Given the description of an element on the screen output the (x, y) to click on. 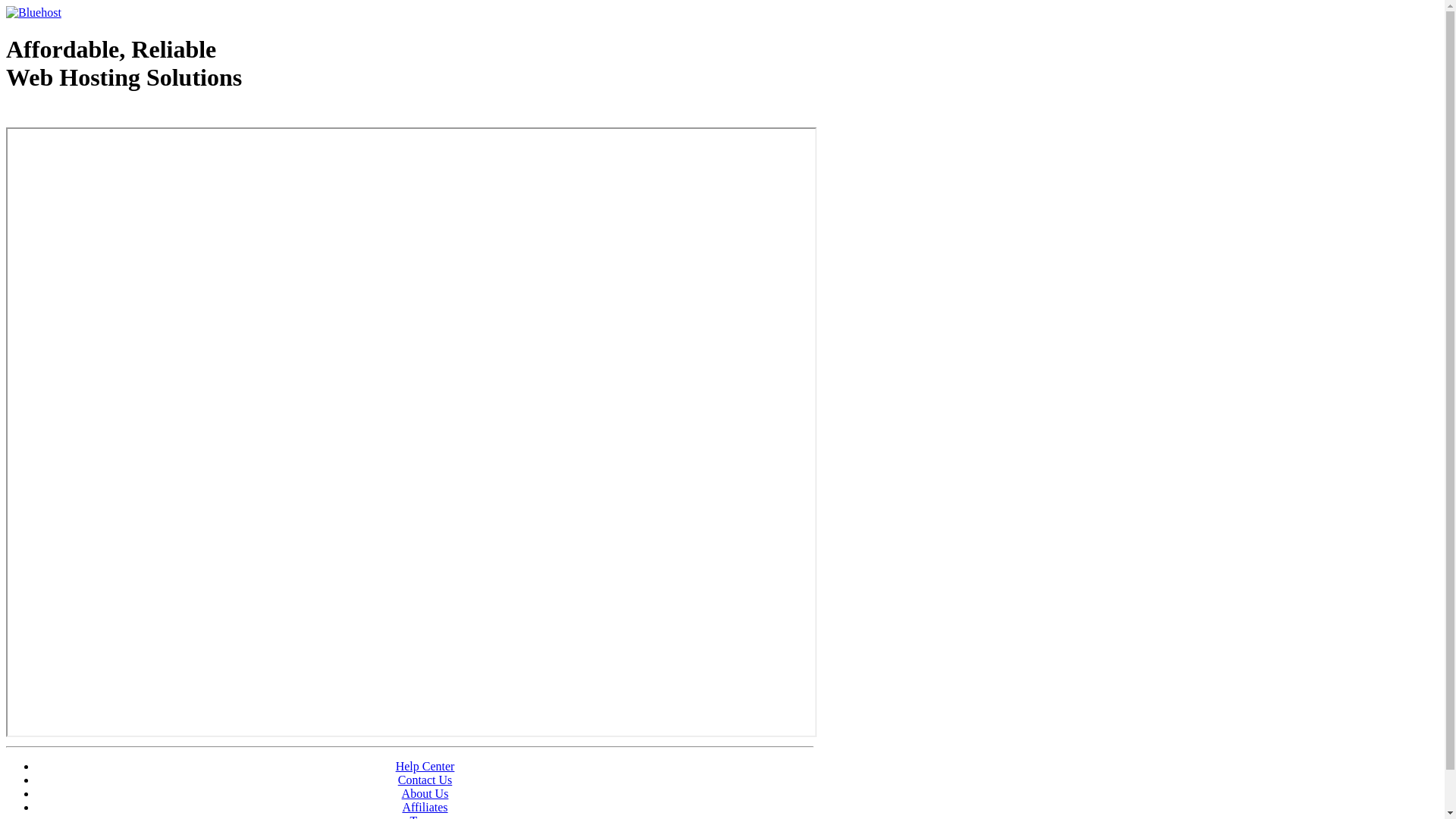
About Us Element type: text (424, 793)
Web Hosting - courtesy of www.bluehost.com Element type: text (94, 115)
Contact Us Element type: text (425, 779)
Help Center Element type: text (425, 765)
Affiliates Element type: text (424, 806)
